Given the description of an element on the screen output the (x, y) to click on. 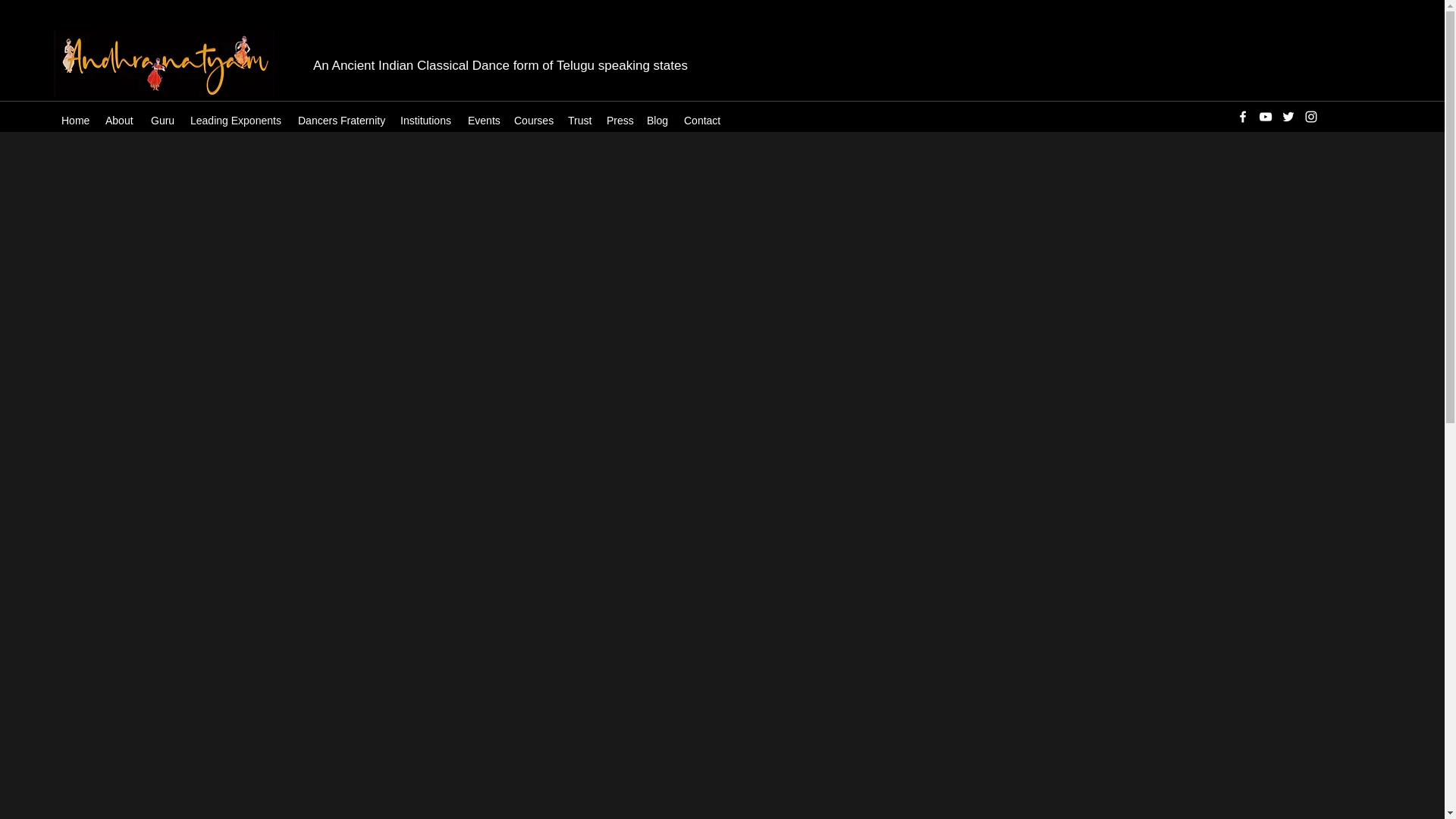
Press (618, 119)
Courses (533, 119)
Events (483, 119)
Guru (162, 119)
About (119, 119)
Trust (579, 119)
Contact (703, 119)
Blog (658, 119)
Dancers Fraternity (341, 119)
Institutions (426, 119)
